Given the description of an element on the screen output the (x, y) to click on. 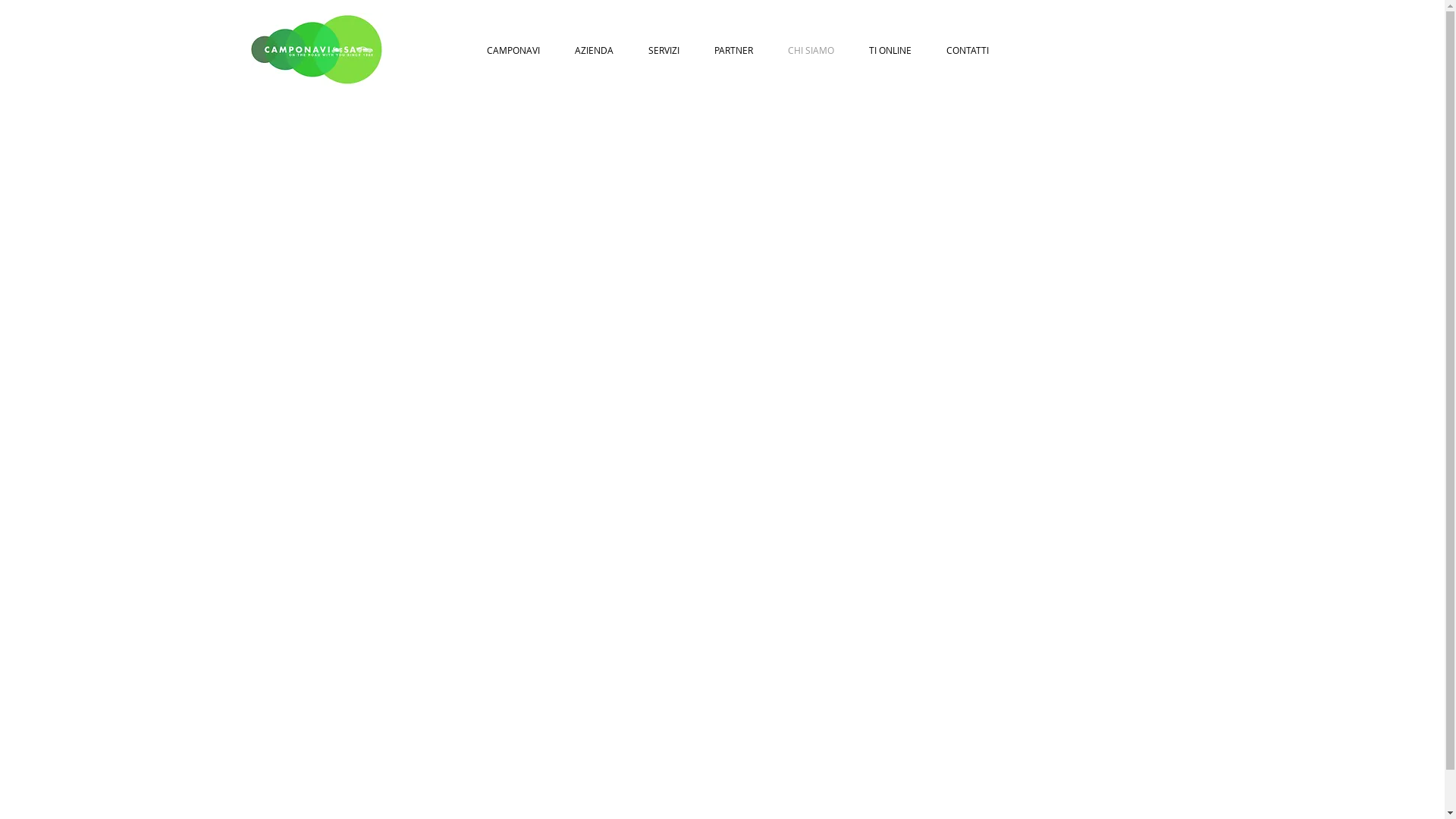
TI ONLINE Element type: text (890, 50)
AZIENDA Element type: text (594, 50)
CHI SIAMO Element type: text (810, 50)
SERVIZI Element type: text (663, 50)
CAMPONAVI Element type: text (512, 50)
PARTNER Element type: text (733, 50)
CONTATTI Element type: text (967, 50)
